Given the description of an element on the screen output the (x, y) to click on. 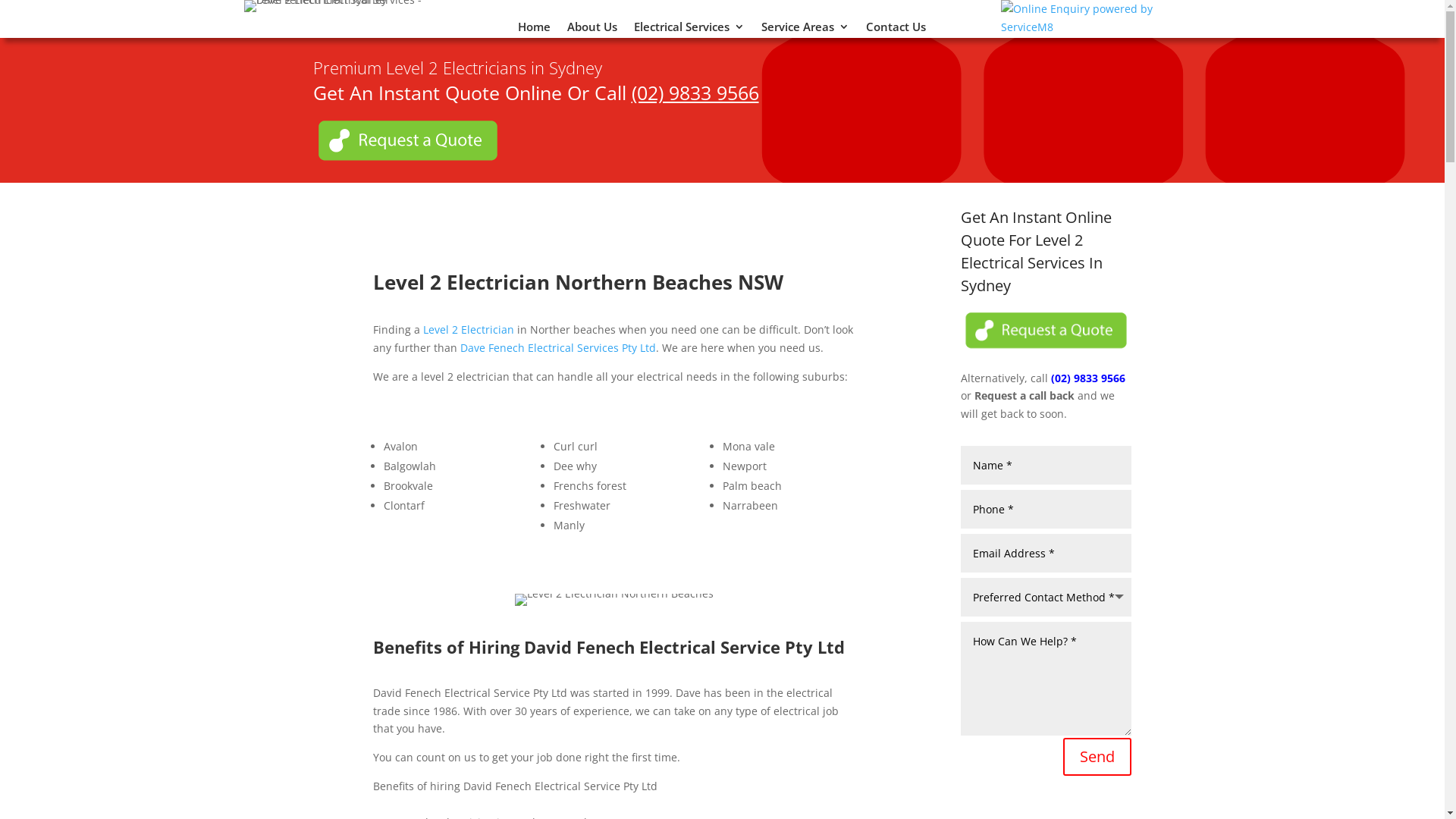
Send Element type: text (1097, 756)
(02) 9833 9566 Element type: text (1088, 377)
Electrical Services Element type: text (688, 29)
Service Areas Element type: text (805, 29)
Dave Fenech Electrical Services Pty Ltd Element type: text (557, 347)
About Us Element type: text (592, 29)
Level 2 Electrician Element type: text (468, 329)
Level 2 Electrician Northern Beaches Element type: hover (613, 599)
Contact Us Element type: text (895, 29)
(02) 9833 9566 Element type: text (694, 92)
Home Element type: text (533, 29)
